Given the description of an element on the screen output the (x, y) to click on. 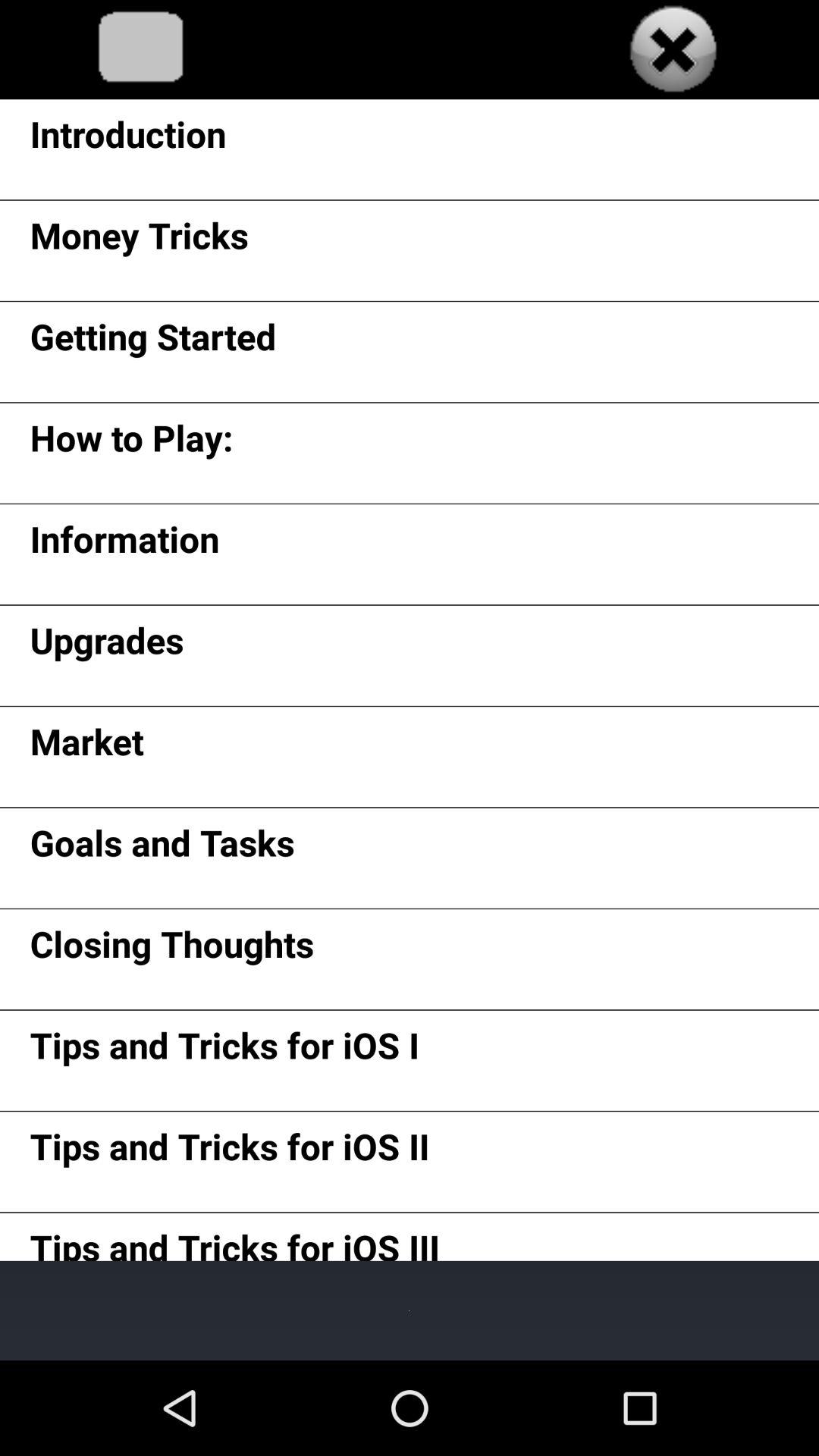
swipe to upgrades icon (106, 645)
